Given the description of an element on the screen output the (x, y) to click on. 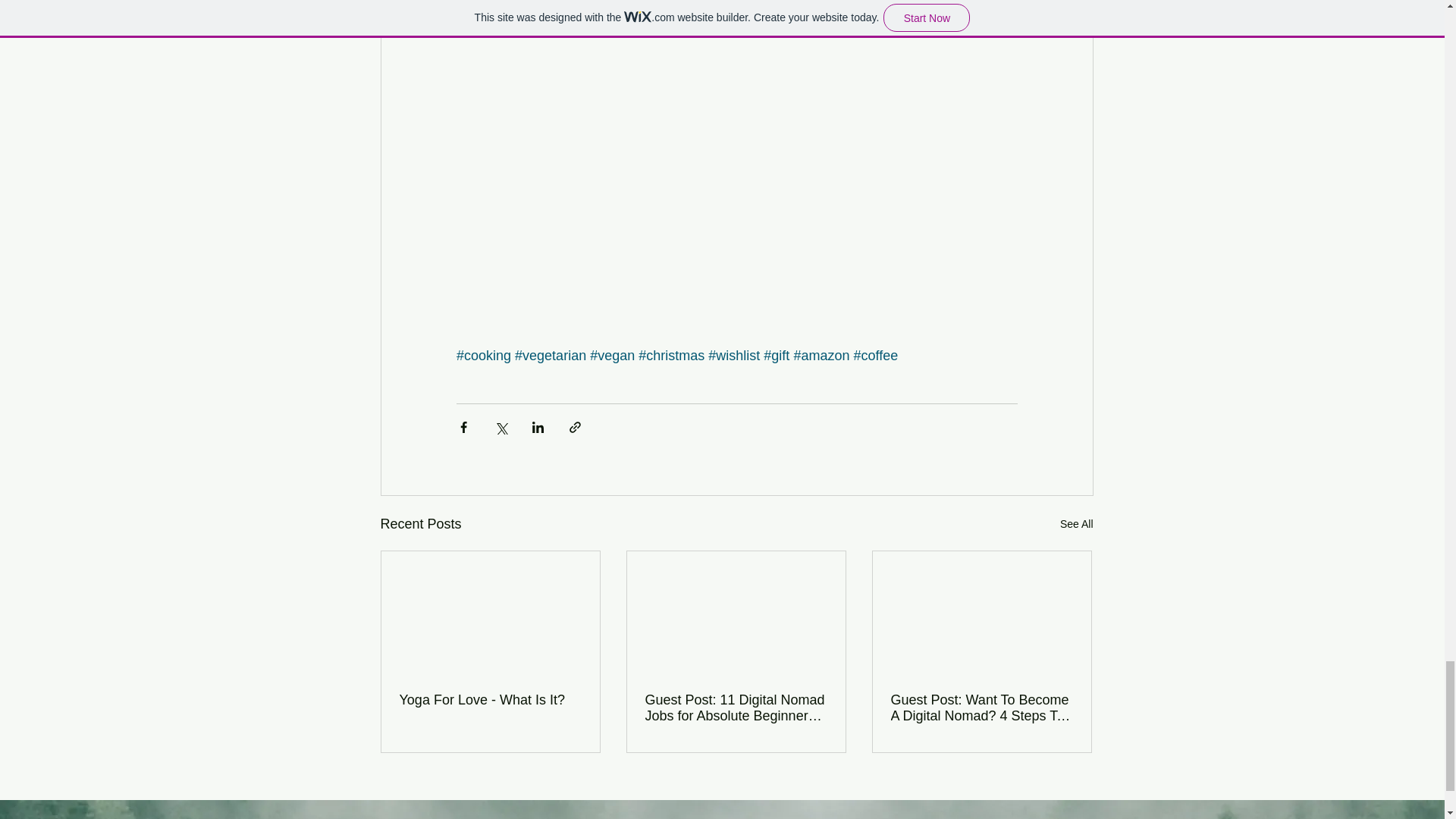
See All (1076, 524)
Yoga For Love - What Is It? (489, 700)
